Given the description of an element on the screen output the (x, y) to click on. 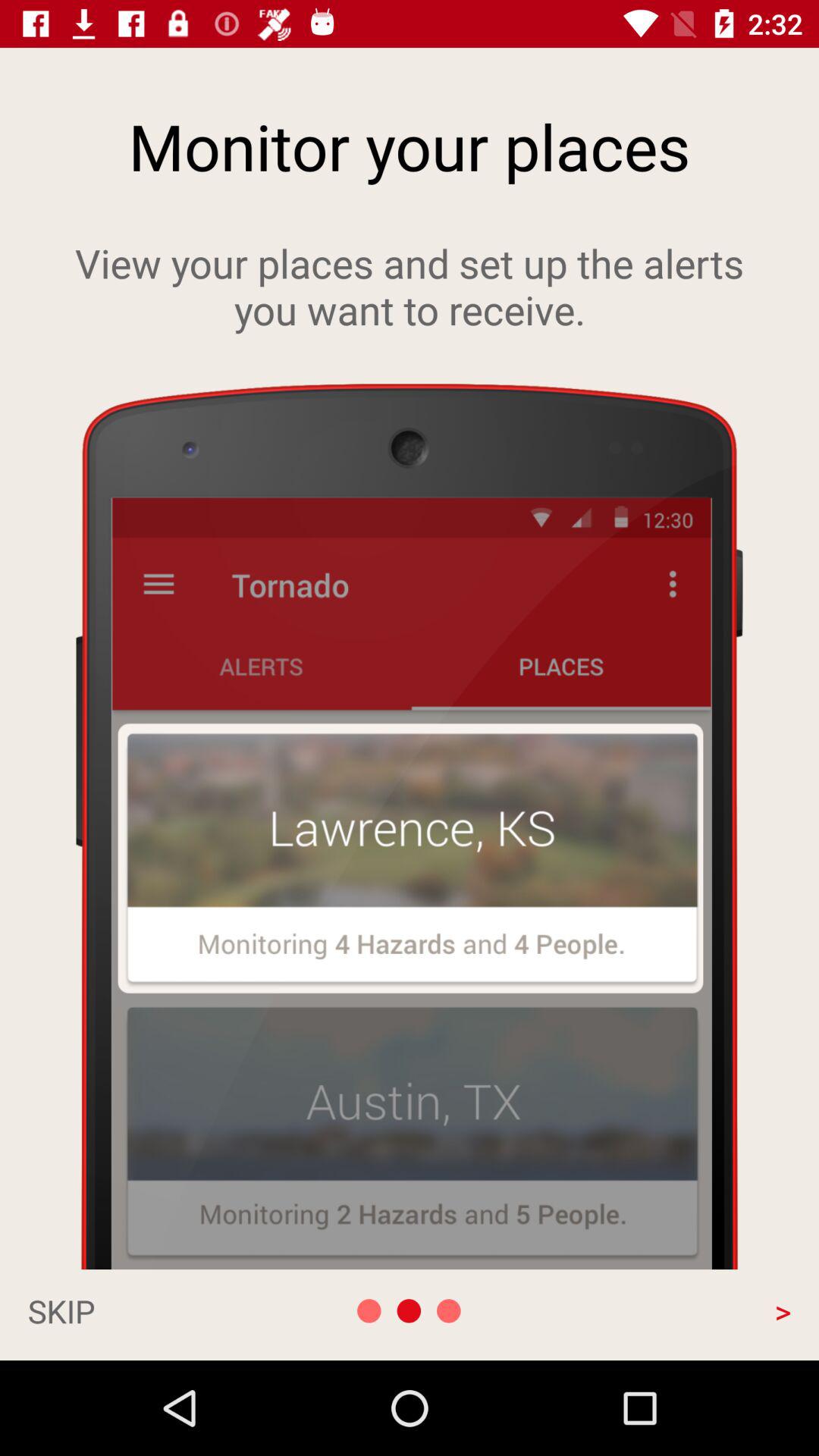
choose skip app (141, 1310)
